Given the description of an element on the screen output the (x, y) to click on. 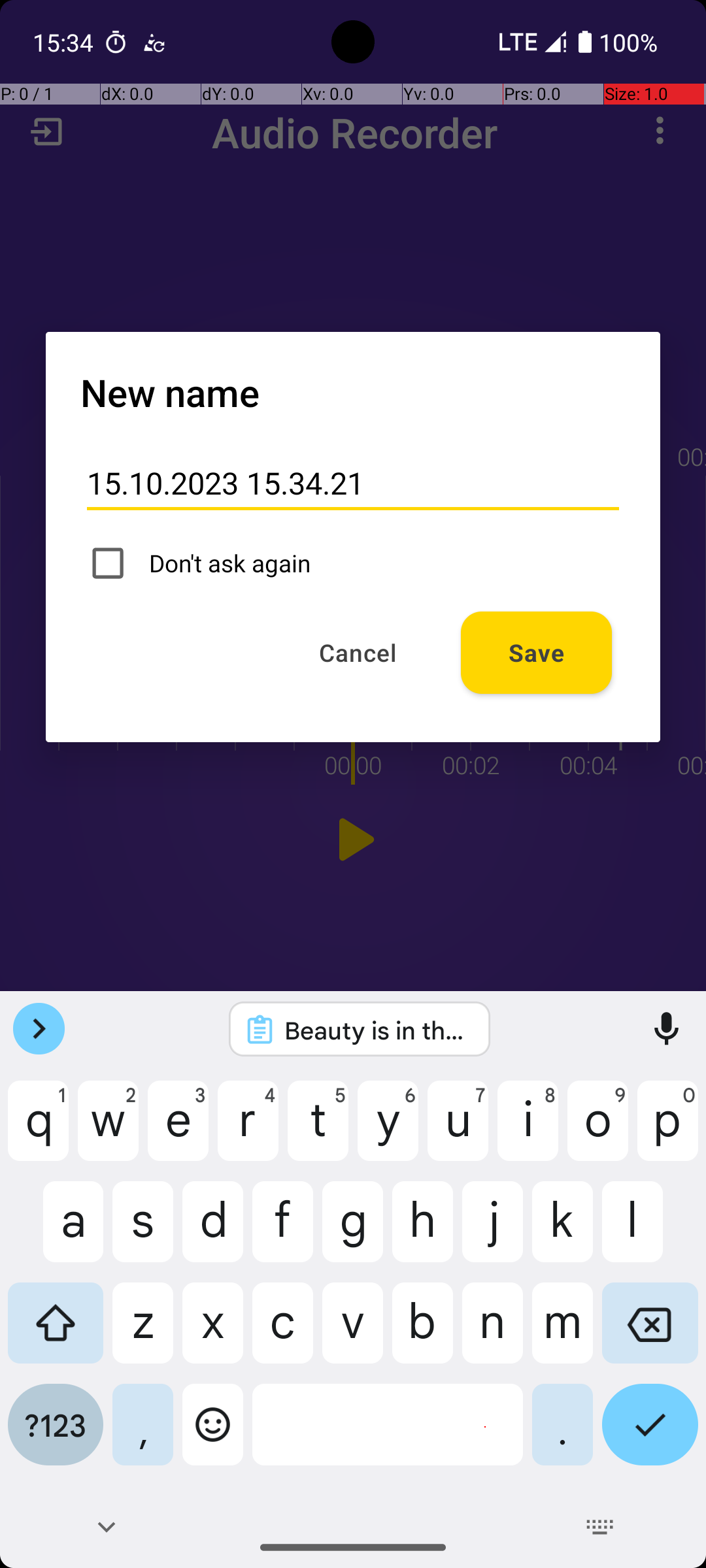
New name Element type: android.widget.TextView (169, 391)
15.10.2023 15.34.21 Element type: android.widget.EditText (352, 483)
Don't ask again Element type: android.widget.CheckBox (352, 562)
Beauty is in the eye of the beholder. Element type: android.widget.TextView (376, 1029)
VLC notification: Scanning for media files Element type: android.widget.ImageView (153, 41)
